Given the description of an element on the screen output the (x, y) to click on. 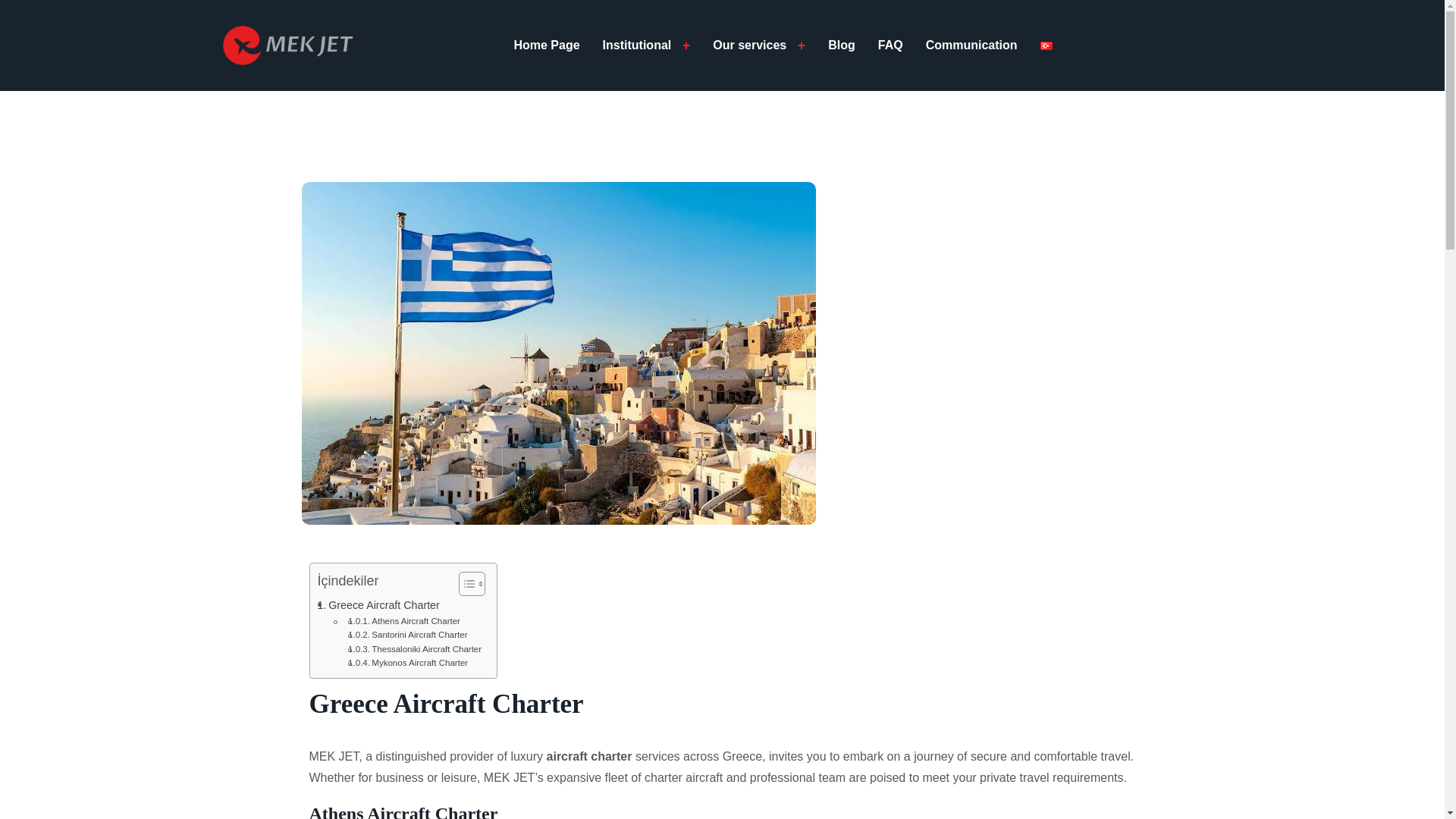
aircraft charter (589, 756)
Our services (749, 45)
Mykonos Aircraft Charter (407, 662)
Greece Aircraft Charter (378, 605)
Mykonos Aircraft Charter (407, 662)
Communication (971, 45)
Santorini Aircraft Charter (407, 634)
Athens Aircraft Charter (403, 621)
Home Page (546, 45)
Athens Aircraft Charter (403, 621)
